Given the description of an element on the screen output the (x, y) to click on. 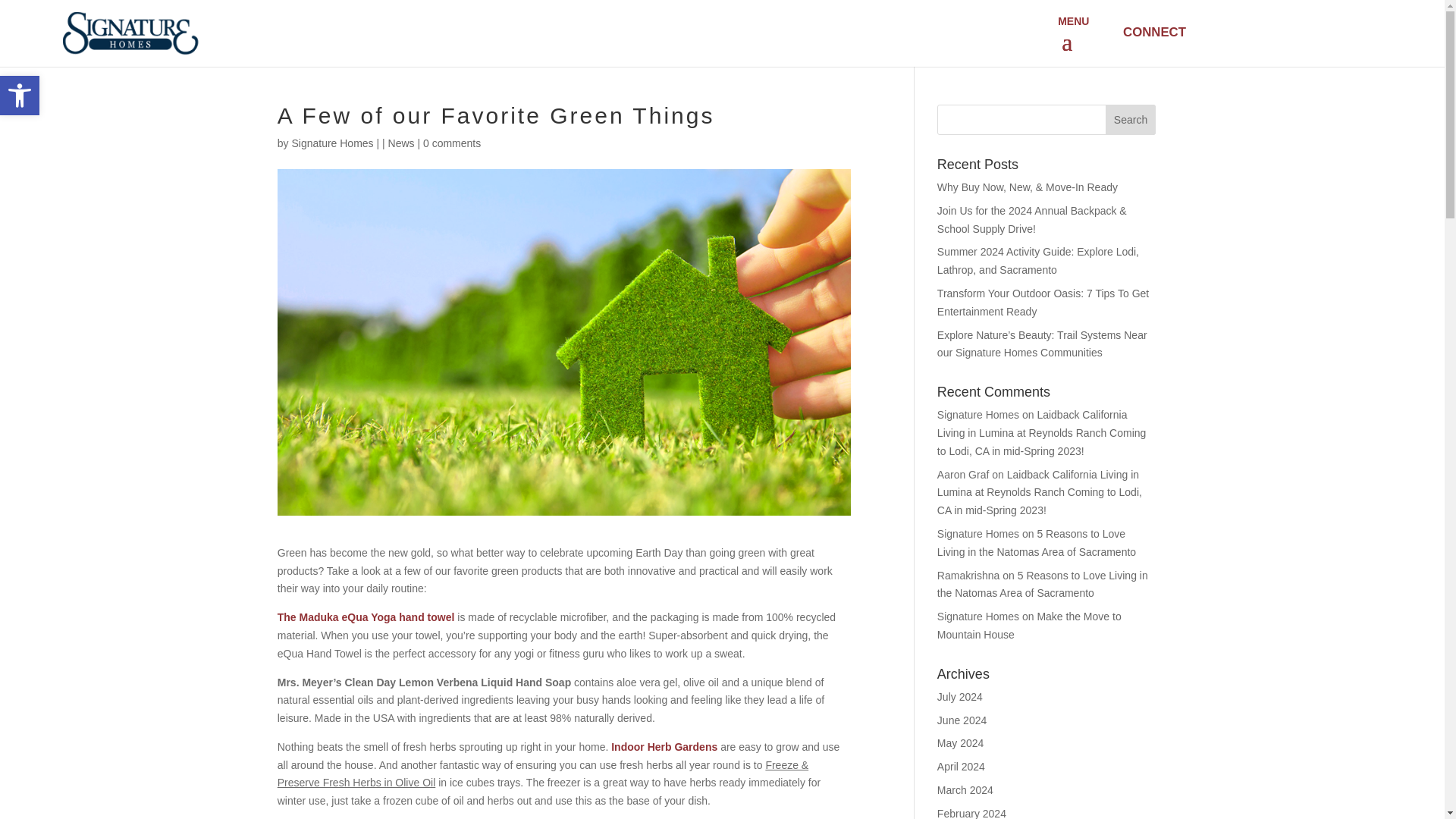
0 comments (451, 143)
Signature Homes (331, 143)
Expand Or Contract Menu (1069, 42)
CONNECT (1152, 32)
Indoor Herb Gardens (664, 746)
The Maduka eQua Yoga hand towel (366, 616)
Accessibility Tools (19, 95)
Search (19, 95)
Accessibility Tools (1130, 119)
